Given the description of an element on the screen output the (x, y) to click on. 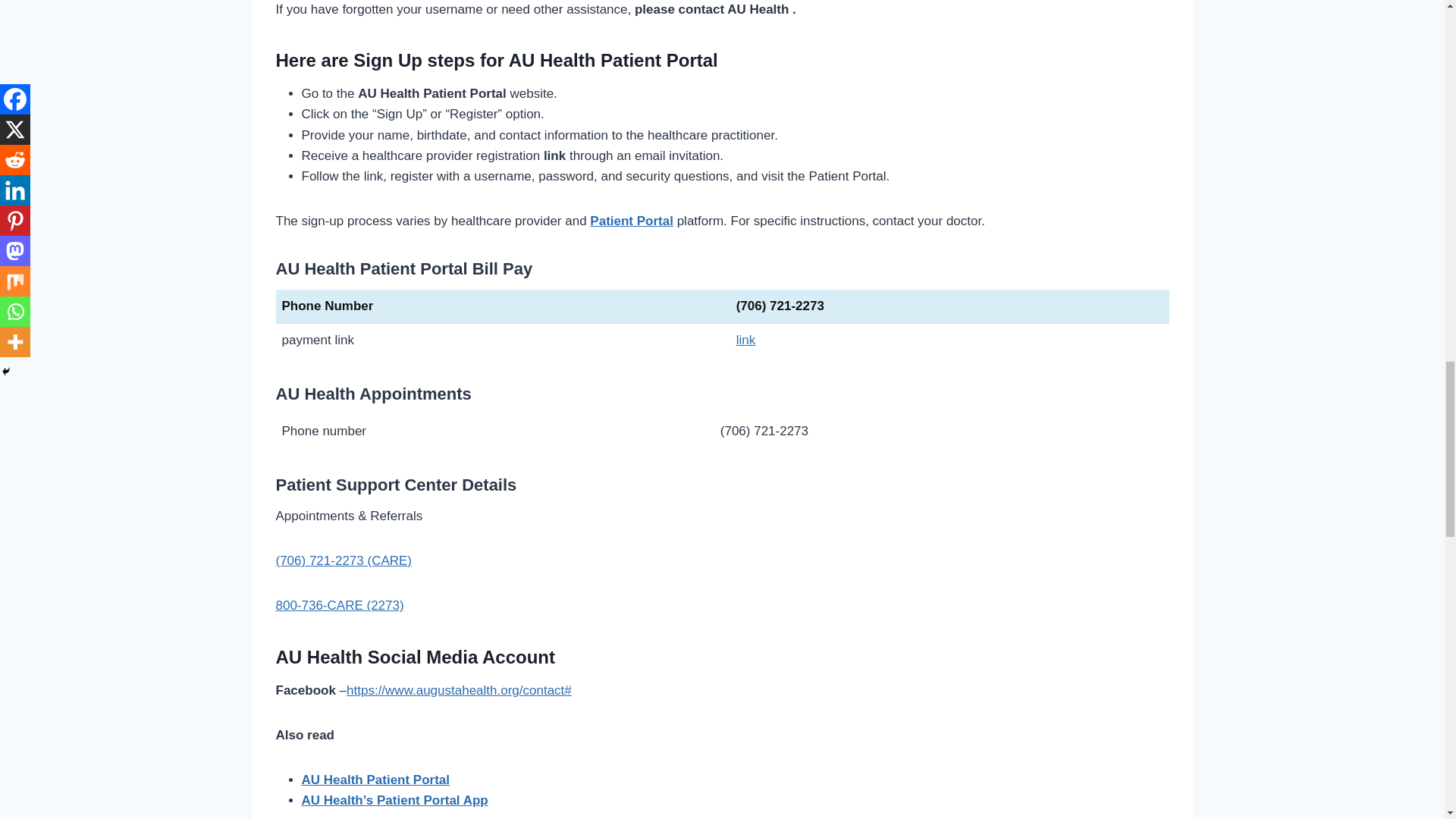
link (745, 339)
AU Health Patient Portal (375, 780)
Patient Portal (630, 220)
